Given the description of an element on the screen output the (x, y) to click on. 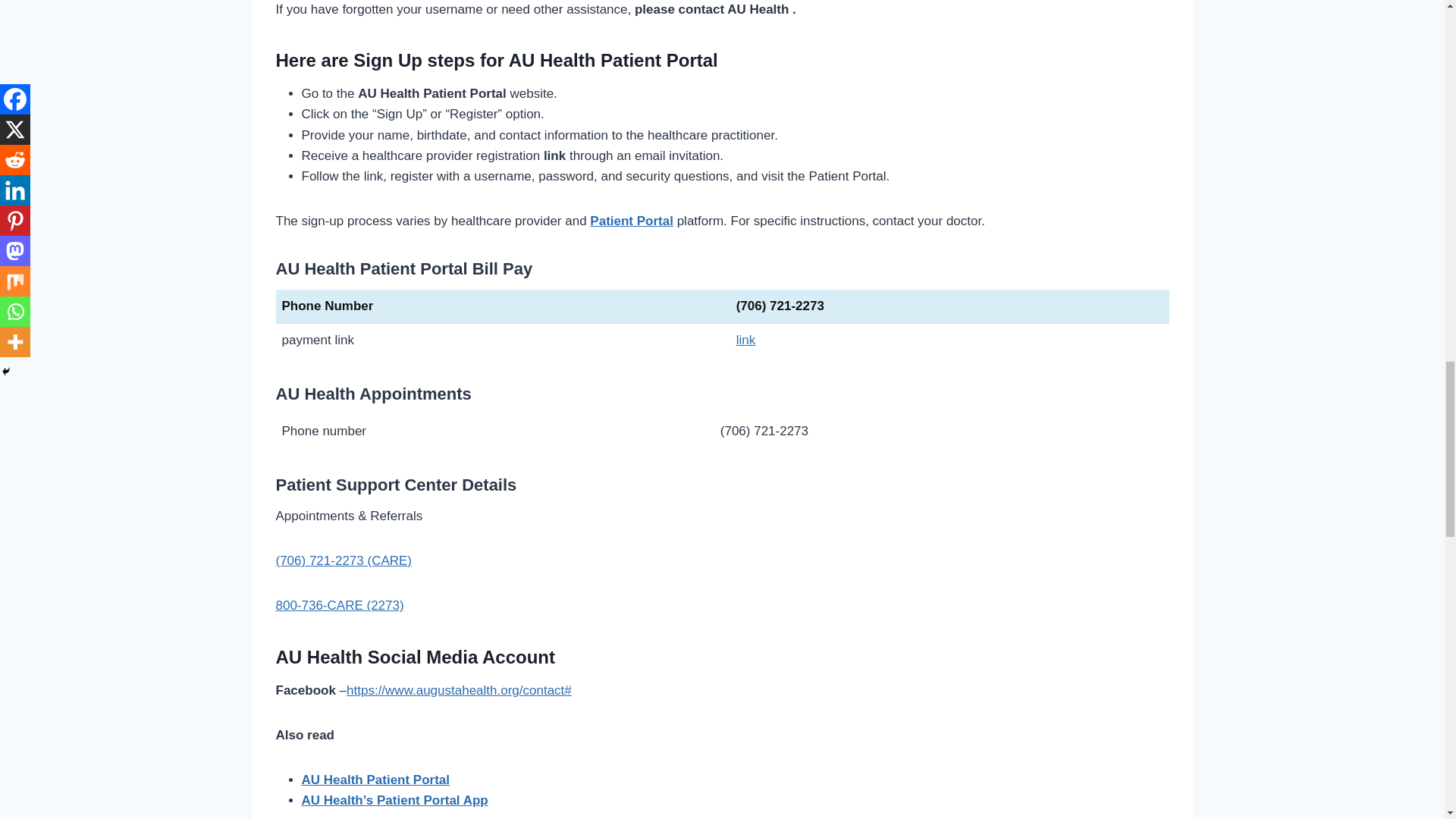
link (745, 339)
AU Health Patient Portal (375, 780)
Patient Portal (630, 220)
